Given the description of an element on the screen output the (x, y) to click on. 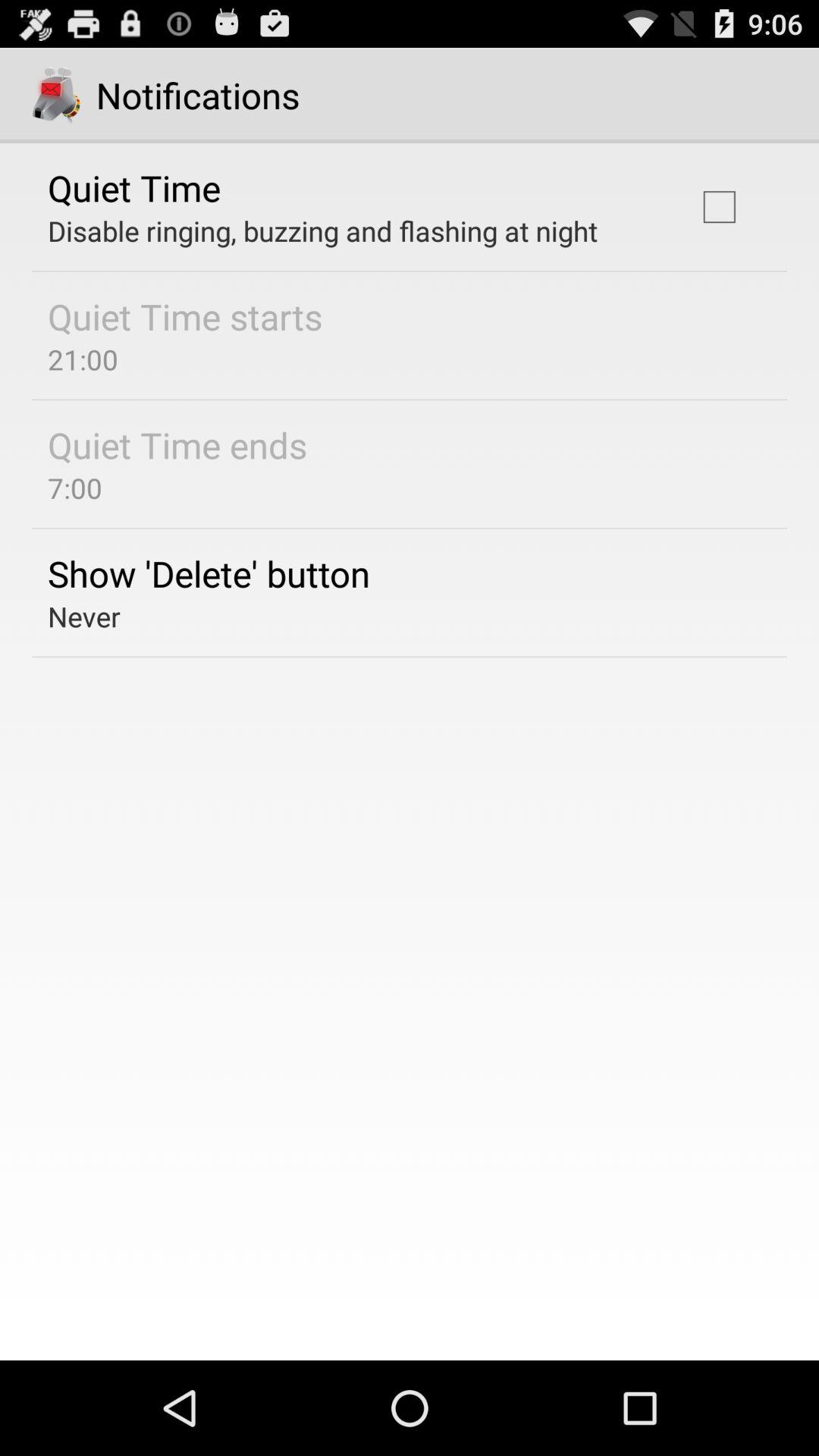
choose icon above the never (208, 573)
